Given the description of an element on the screen output the (x, y) to click on. 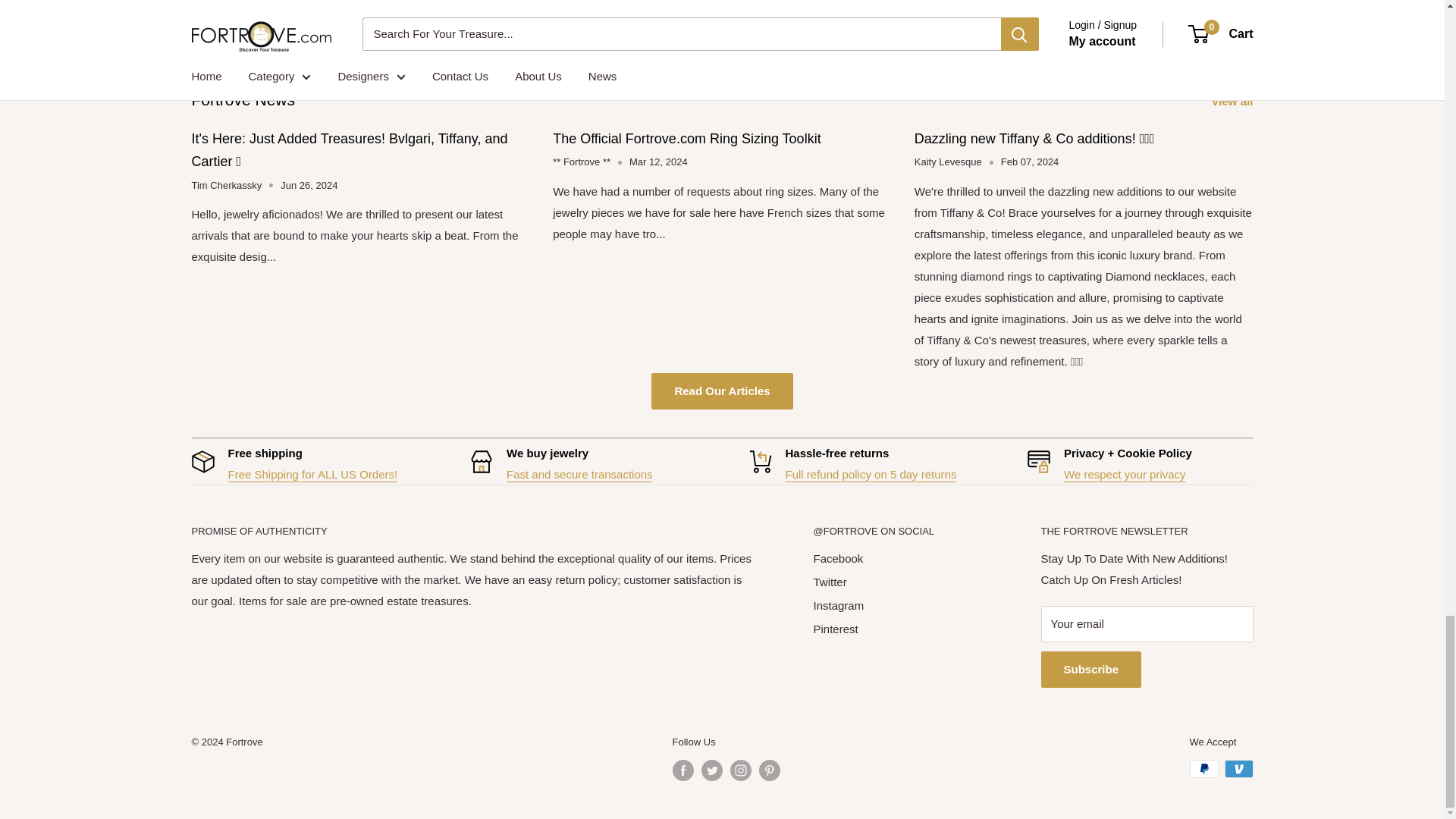
Shipping (312, 473)
Privacy Policy (1125, 473)
Returns (871, 473)
Selling (579, 473)
